Given the description of an element on the screen output the (x, y) to click on. 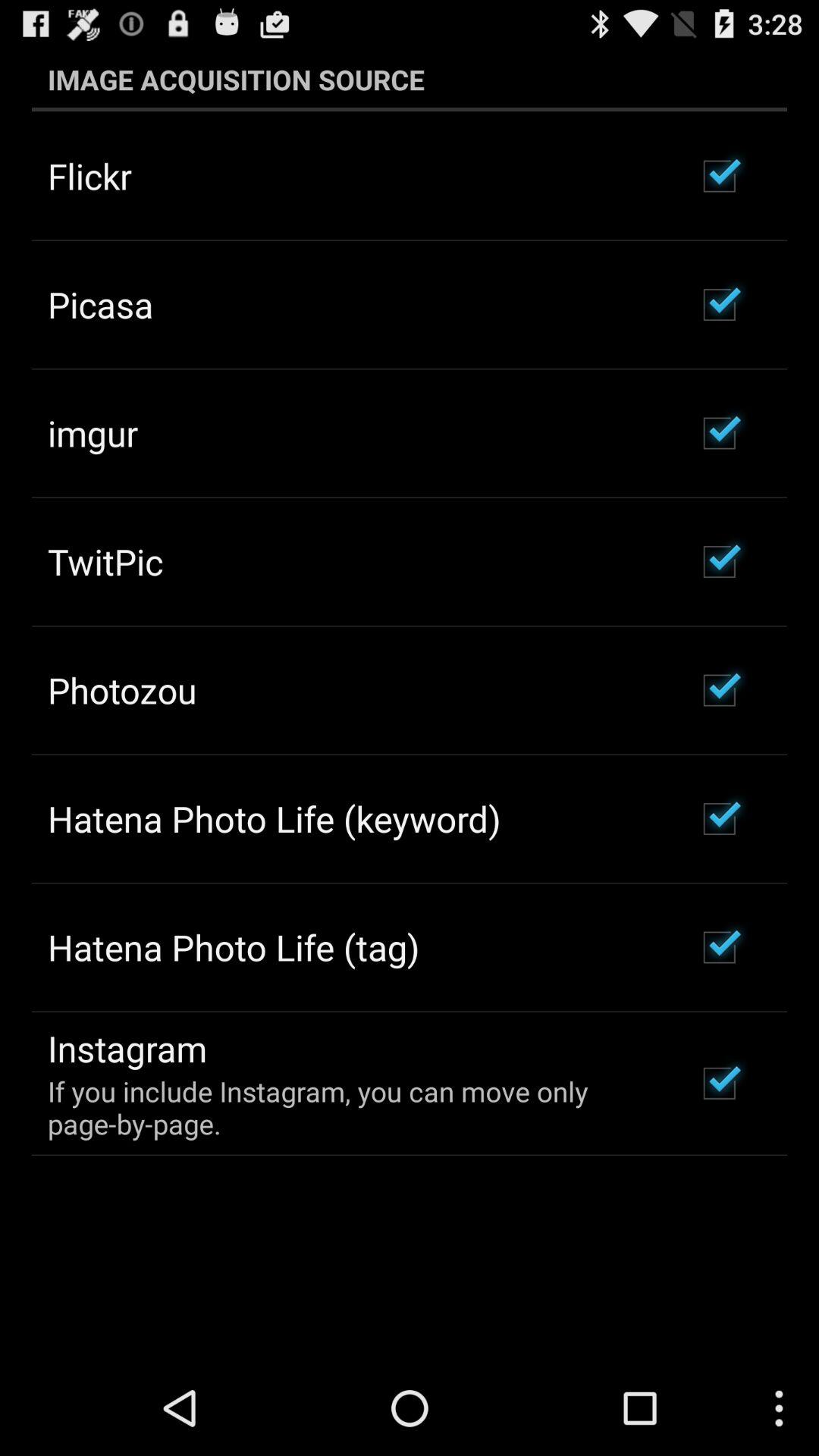
tap the item above the picasa app (89, 175)
